Given the description of an element on the screen output the (x, y) to click on. 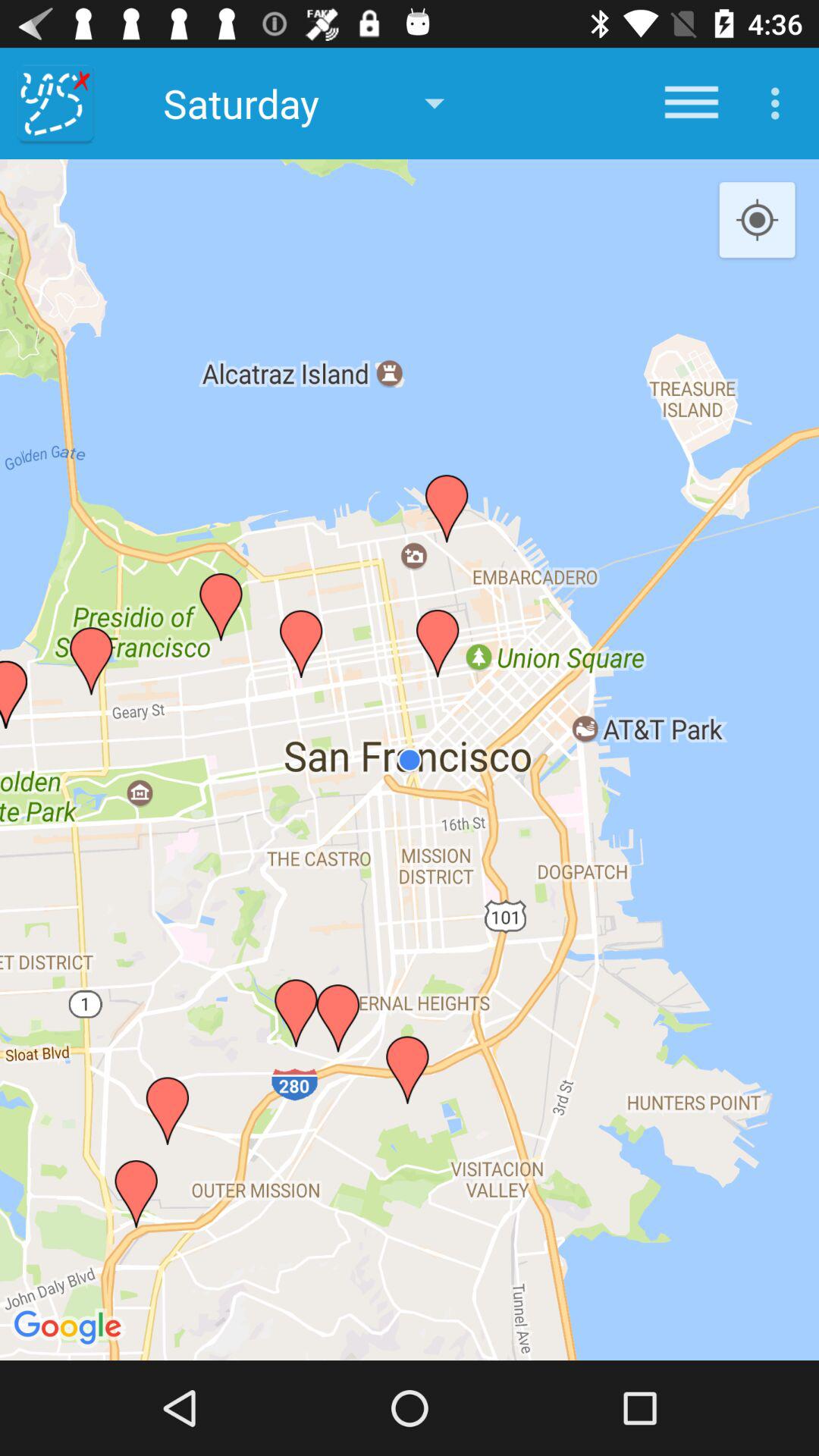
tap the item to the left of saturday icon (55, 103)
